Given the description of an element on the screen output the (x, y) to click on. 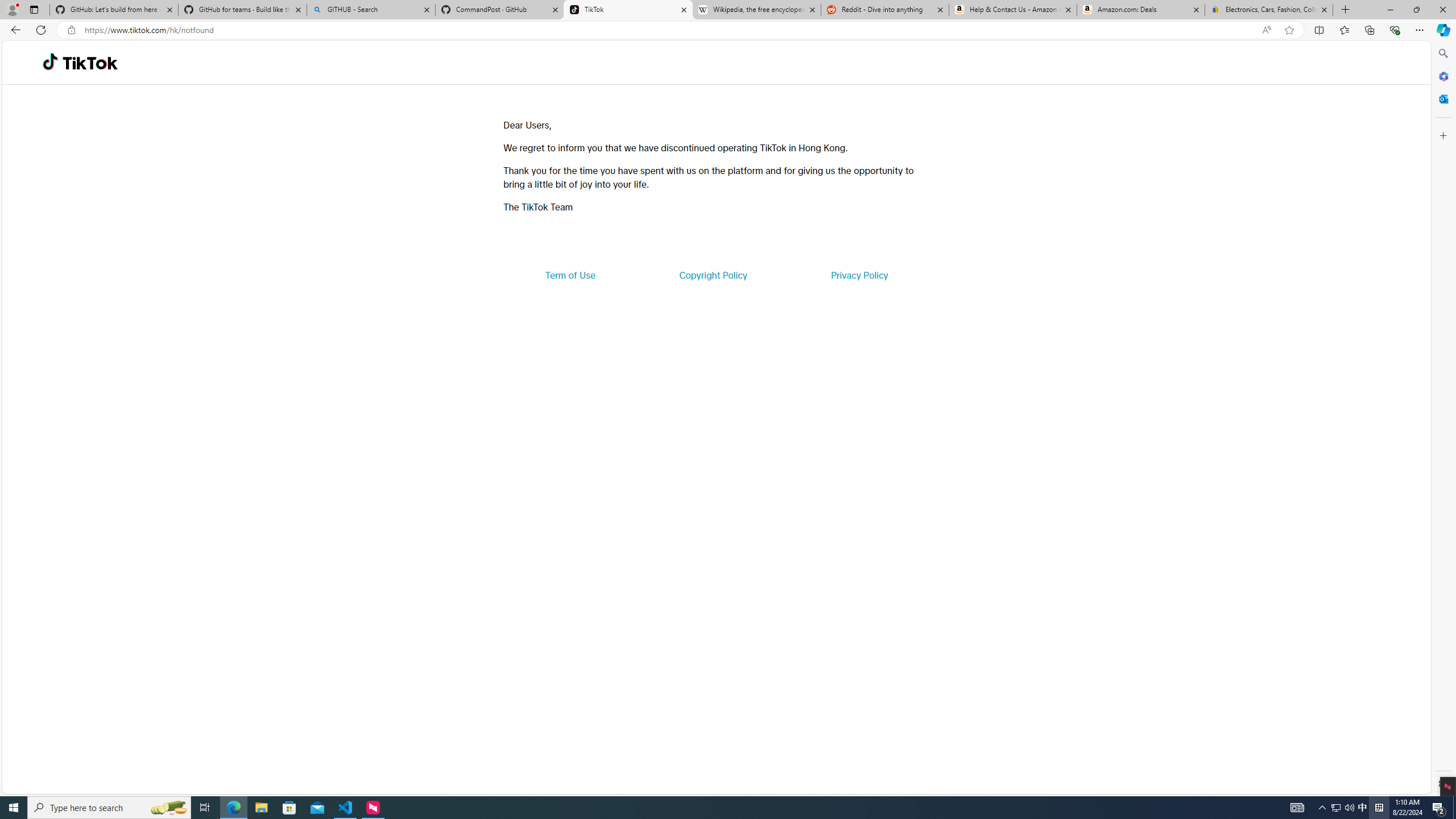
Privacy Policy (858, 274)
Amazon.com: Deals (1140, 9)
Term of Use (569, 274)
Wikipedia, the free encyclopedia (756, 9)
